Given the description of an element on the screen output the (x, y) to click on. 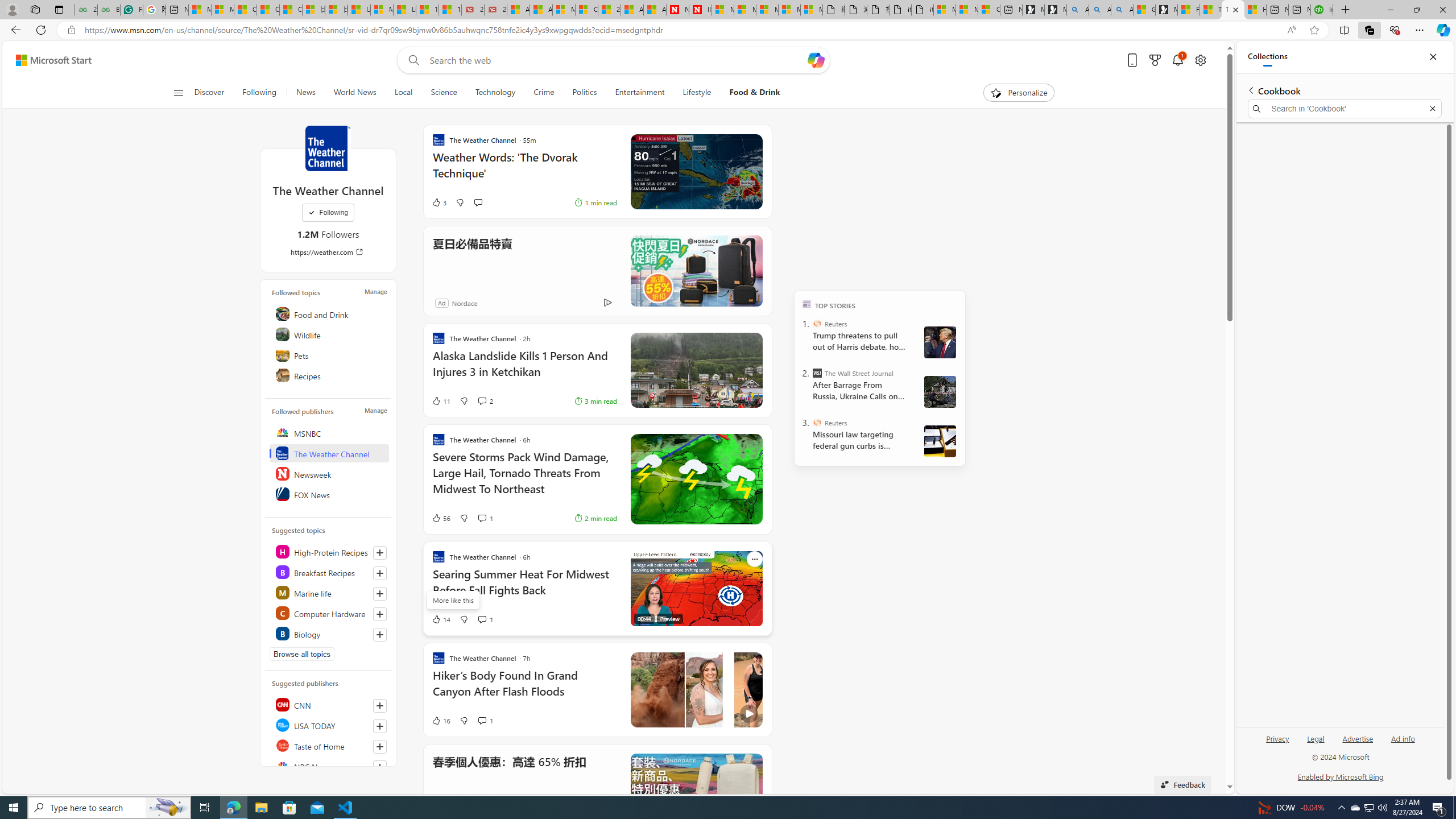
MSNBC (328, 432)
Class: highlight (328, 633)
Newsweek (328, 473)
Reuters (816, 422)
